Given the description of an element on the screen output the (x, y) to click on. 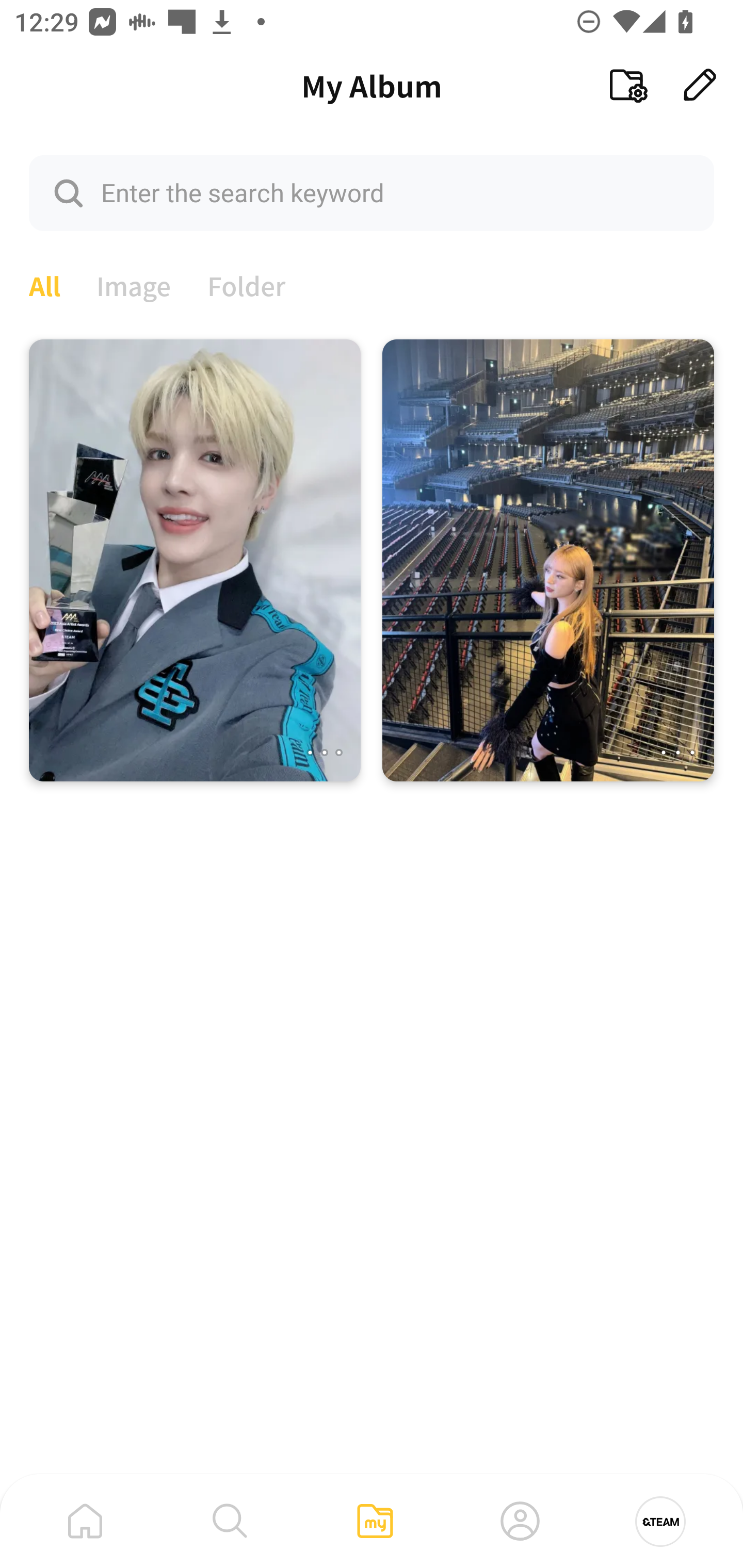
Enter the search keyword (371, 192)
All (44, 284)
Image (133, 284)
Folder (246, 284)
